Given the description of an element on the screen output the (x, y) to click on. 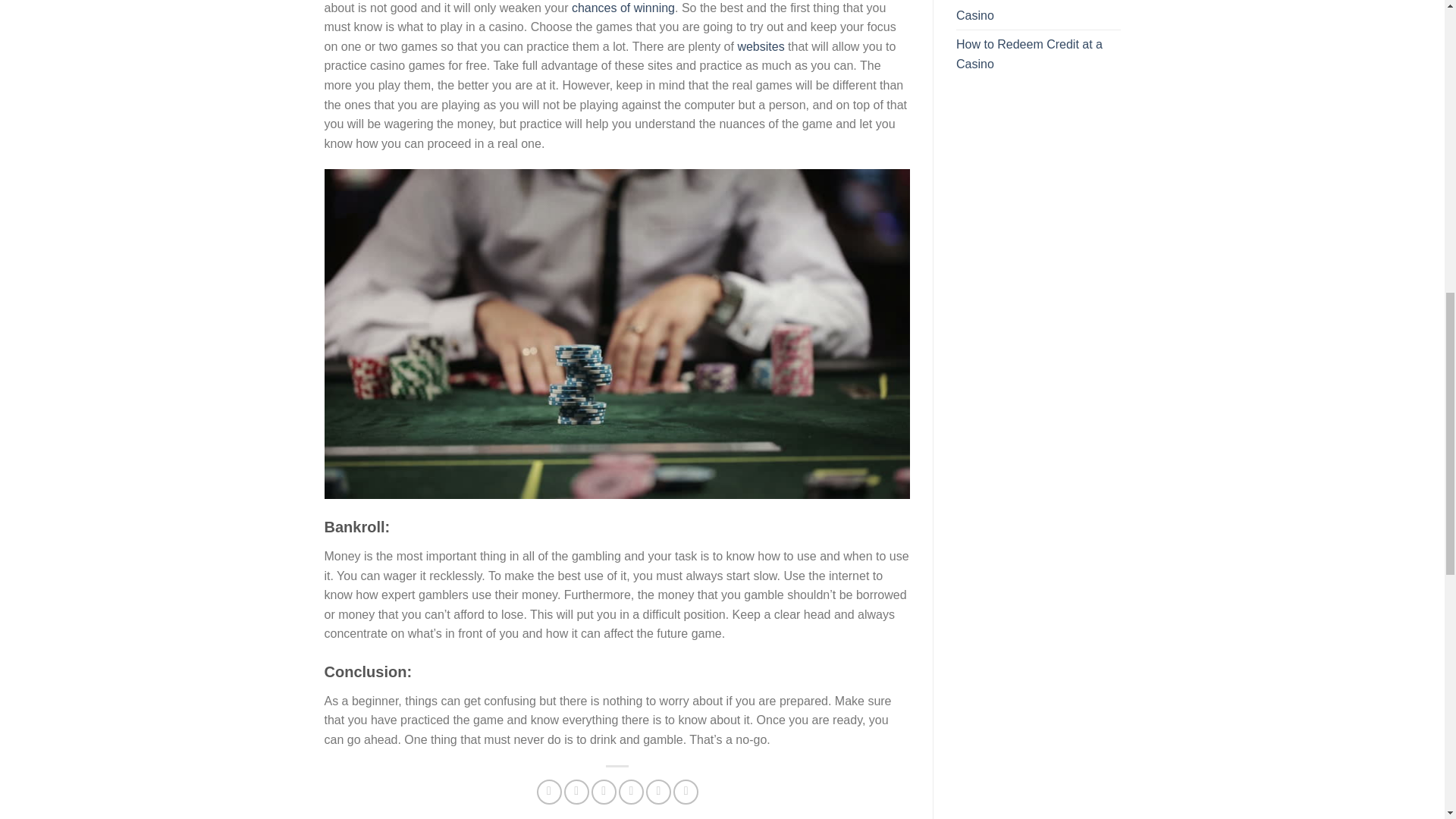
chances of winning (623, 7)
How to Redeem Credit at a Casino (1038, 53)
websites (760, 46)
How to Get a Free Bonus in a Casino (1038, 14)
